Given the description of an element on the screen output the (x, y) to click on. 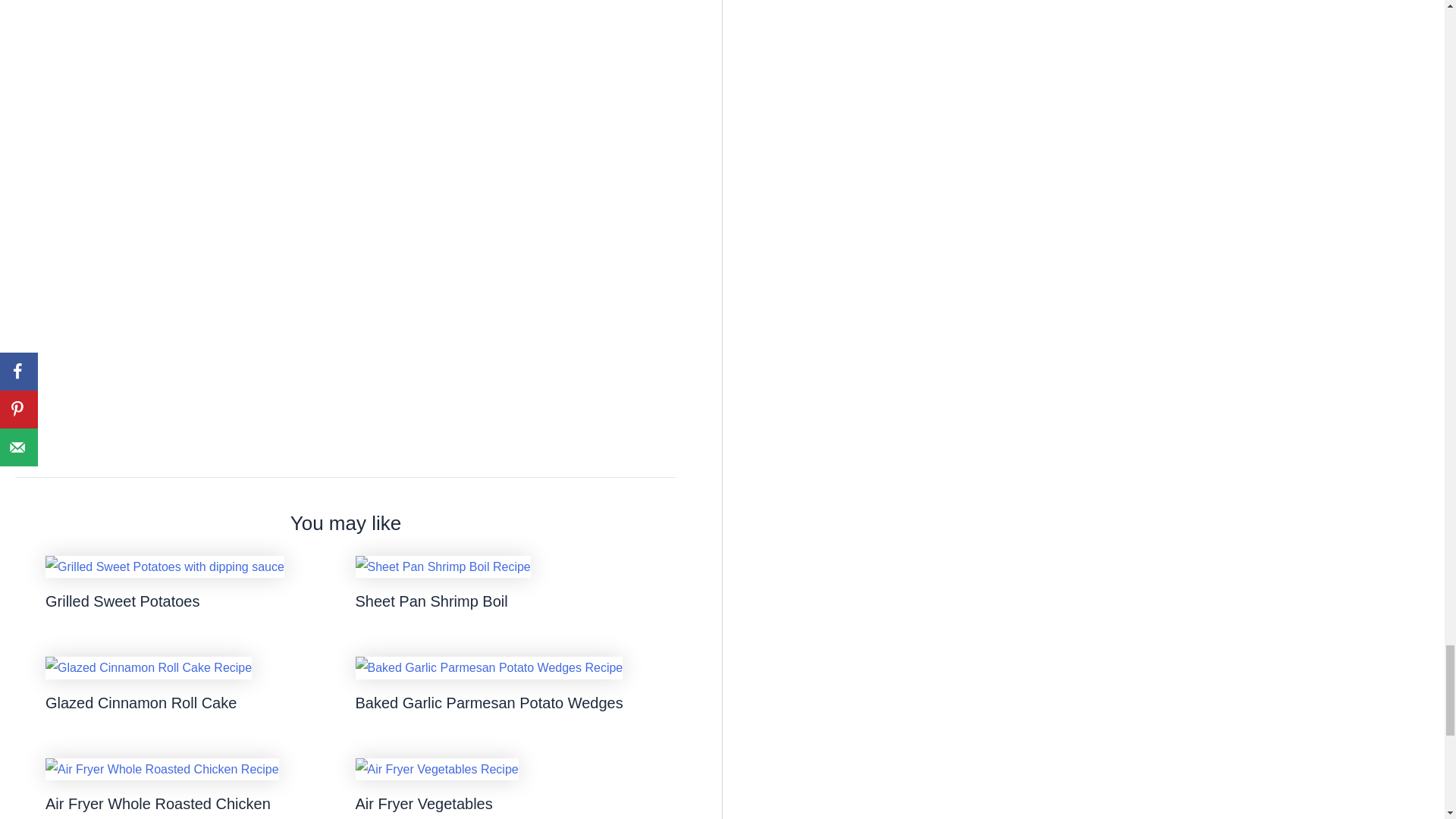
Glazed Cinnamon Roll Cake (140, 702)
Grilled Sweet Potatoes (122, 600)
Sheet Pan Shrimp Boil (430, 600)
